Given the description of an element on the screen output the (x, y) to click on. 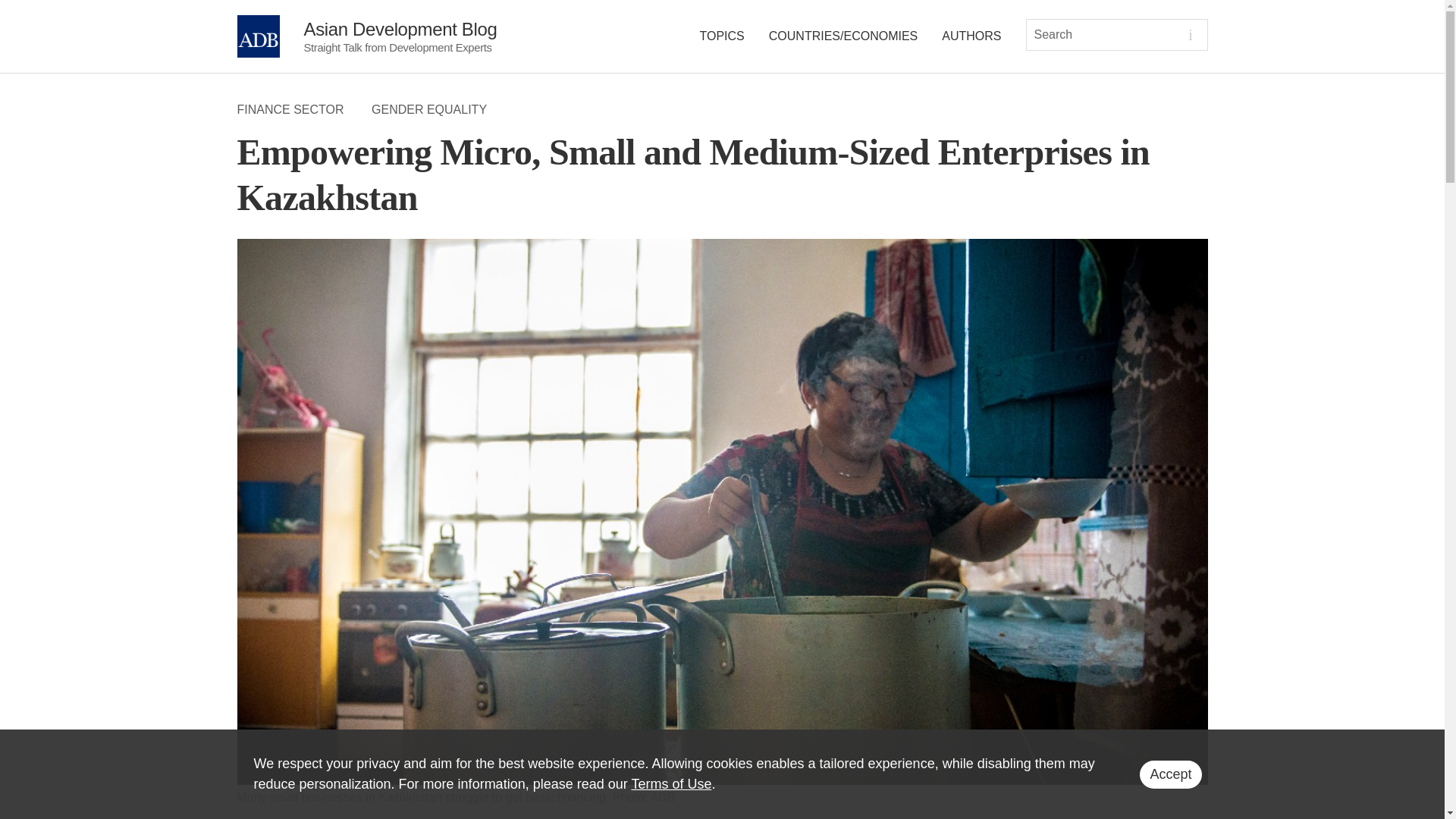
TOPICS (722, 36)
AUTHORS (971, 36)
